Given the description of an element on the screen output the (x, y) to click on. 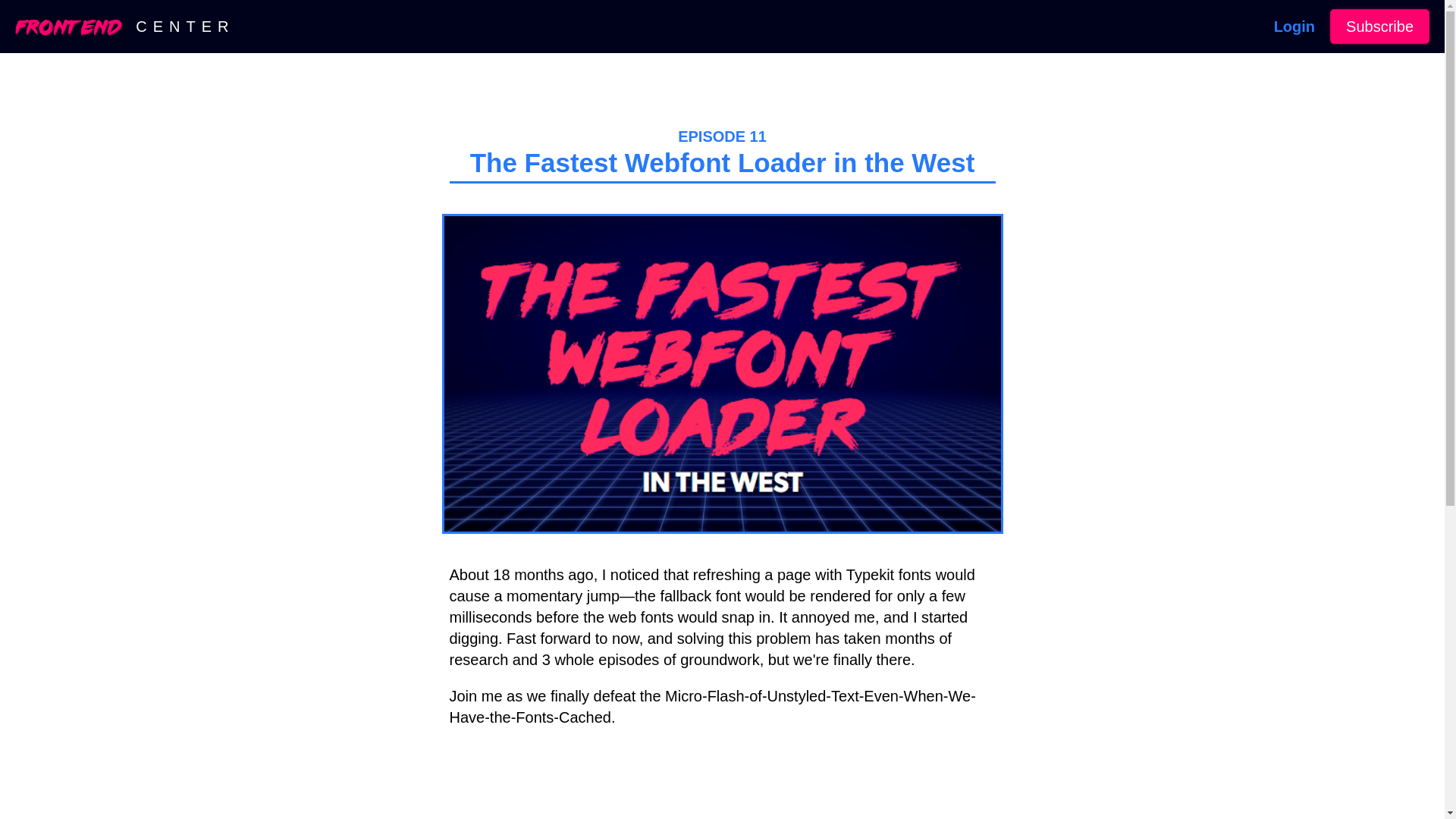
FRONT ENDCENTER Element type: text (124, 26)
Subscribe Element type: text (1379, 26)
Login Element type: text (1294, 26)
